Given the description of an element on the screen output the (x, y) to click on. 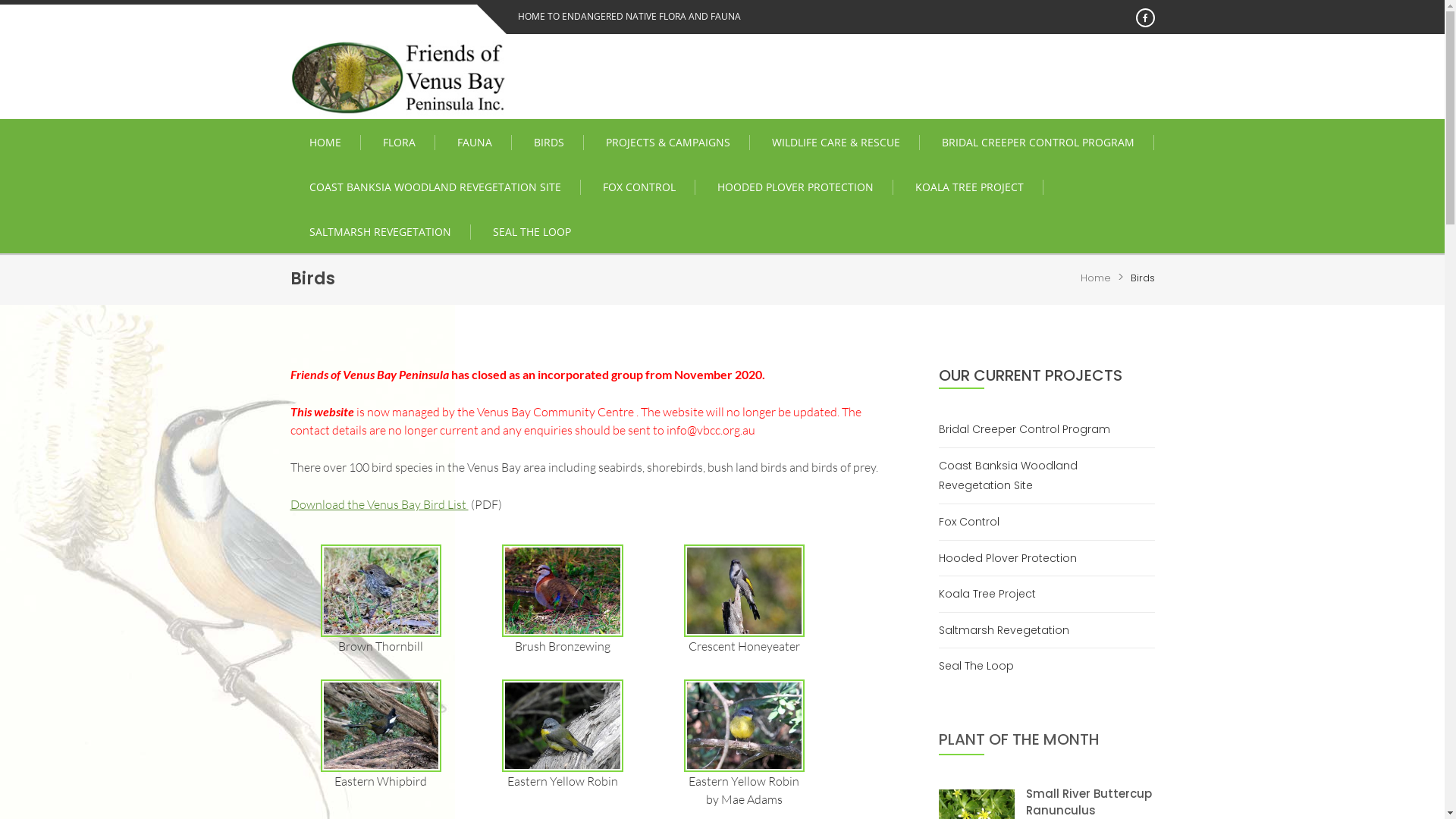
Coast Banksia Woodland Revegetation Site Element type: text (1046, 475)
Hooded Plover Protection Element type: text (1013, 558)
Skip to content Element type: text (0, 0)
SEAL THE LOOP Element type: text (531, 231)
FOX CONTROL Element type: text (639, 186)
Download the Venus Bay Bird List  Element type: text (378, 503)
Bridal Creeper Control Program Element type: text (1029, 429)
SALTMARSH REVEGETATION Element type: text (379, 231)
FAUNA Element type: text (474, 142)
HOODED PLOVER PROTECTION Element type: text (794, 186)
HOME Element type: text (324, 142)
Home Element type: text (1095, 277)
BIRDS Element type: text (548, 142)
WILDLIFE CARE & RESCUE Element type: text (835, 142)
COAST BANKSIA WOODLAND REVEGETATION SITE Element type: text (434, 186)
Saltmarsh Revegetation Element type: text (1009, 630)
Seal The Loop Element type: text (981, 666)
BRIDAL CREEPER CONTROL PROGRAM Element type: text (1037, 142)
Fox Control Element type: text (974, 521)
PROJECTS & CAMPAIGNS Element type: text (667, 142)
Koala Tree Project Element type: text (992, 593)
KOALA TREE PROJECT Element type: text (969, 186)
FLORA Element type: text (399, 142)
